Given the description of an element on the screen output the (x, y) to click on. 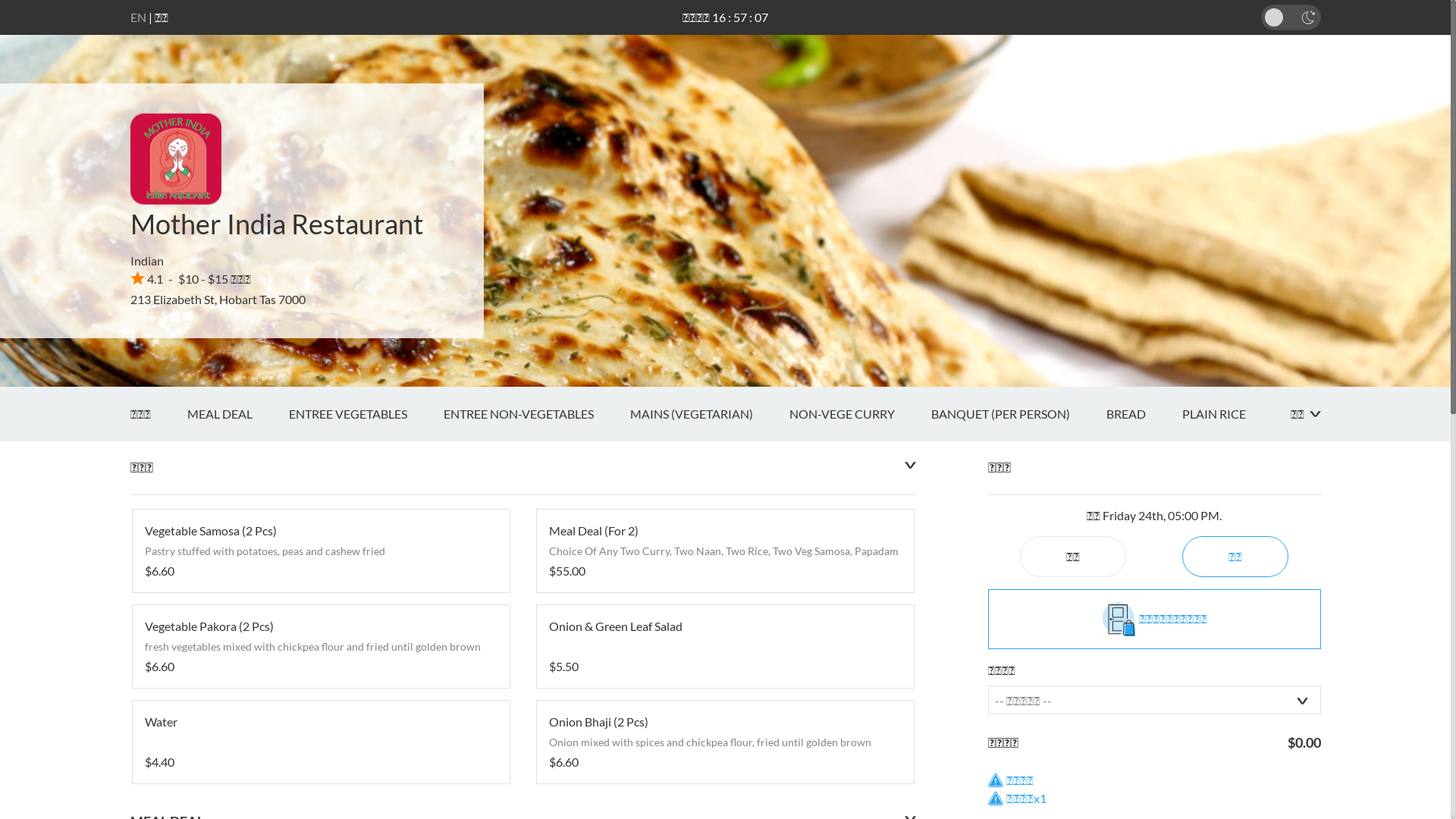
ENTREE VEGETABLES Element type: text (365, 413)
MEAL DEAL Element type: text (237, 413)
PLAIN RICE Element type: text (1231, 413)
MAINS (VEGETARIAN) Element type: text (708, 413)
4.1 Element type: text (146, 278)
Water
$4.40 Element type: text (320, 741)
BANQUET (PER PERSON) Element type: text (1018, 413)
Water
$4.40 Element type: text (320, 741)
Mother India Restaurant Element type: text (276, 223)
Onion & Green Leaf Salad
$5.50 Element type: text (725, 646)
EN Element type: text (138, 16)
ENTREE NON-VEGETABLES Element type: text (535, 413)
BREAD Element type: text (1143, 413)
Onion & Green Leaf Salad
$5.50 Element type: text (725, 646)
NON-VEGE CURRY Element type: text (859, 413)
